Given the description of an element on the screen output the (x, y) to click on. 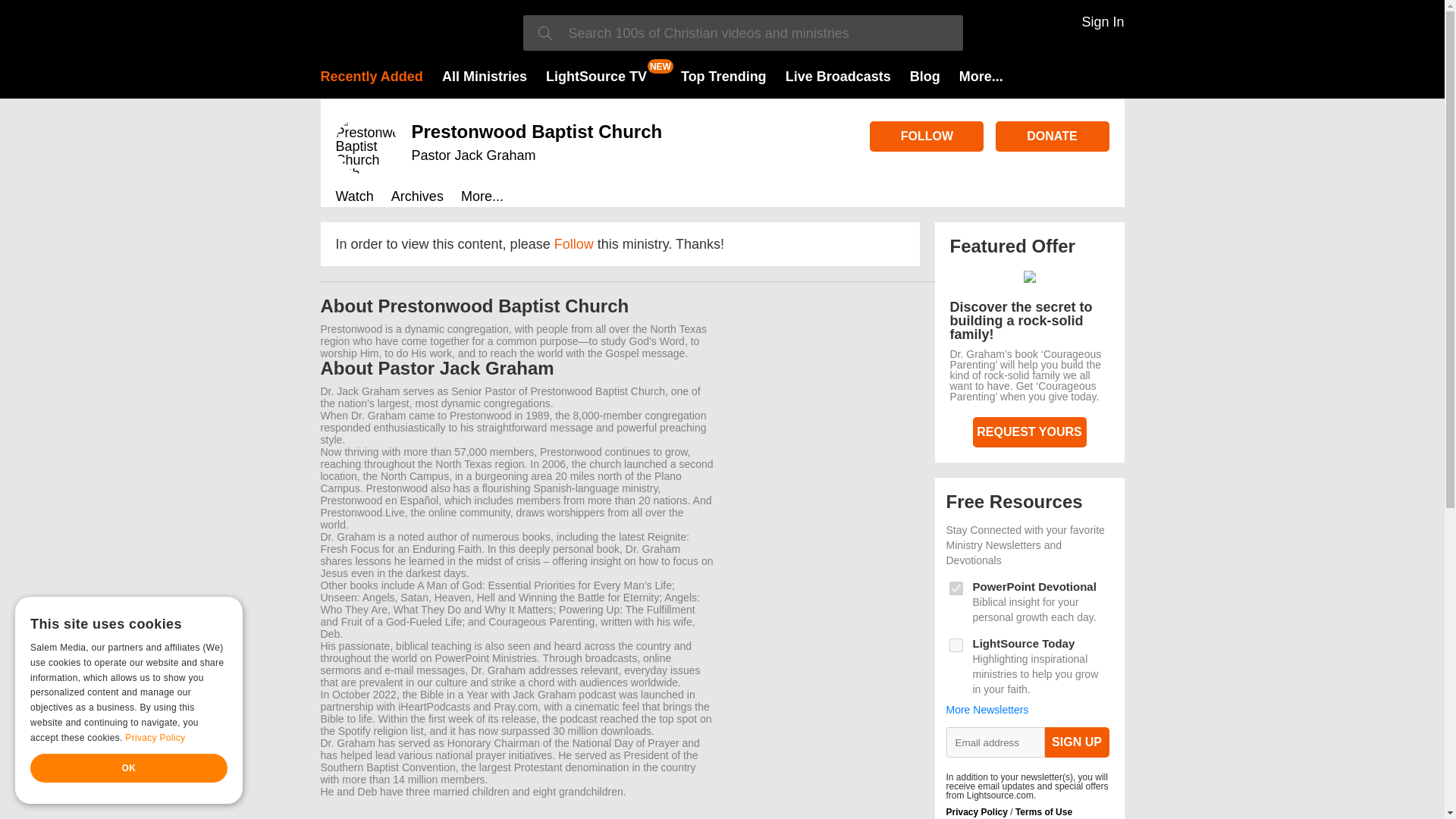
Prestonwood Baptist Church (536, 131)
REQUEST YOURS (1029, 431)
7291 (955, 644)
More... (482, 198)
Terms of Use (1042, 811)
Top Trending (724, 76)
All Ministries (484, 76)
More Newsletters (987, 709)
Live Broadcasts (838, 76)
Blog (925, 76)
Recently Added (371, 76)
DONATE (1051, 136)
More... (981, 76)
LightSource TV (596, 76)
Privacy Policy (976, 811)
